Given the description of an element on the screen output the (x, y) to click on. 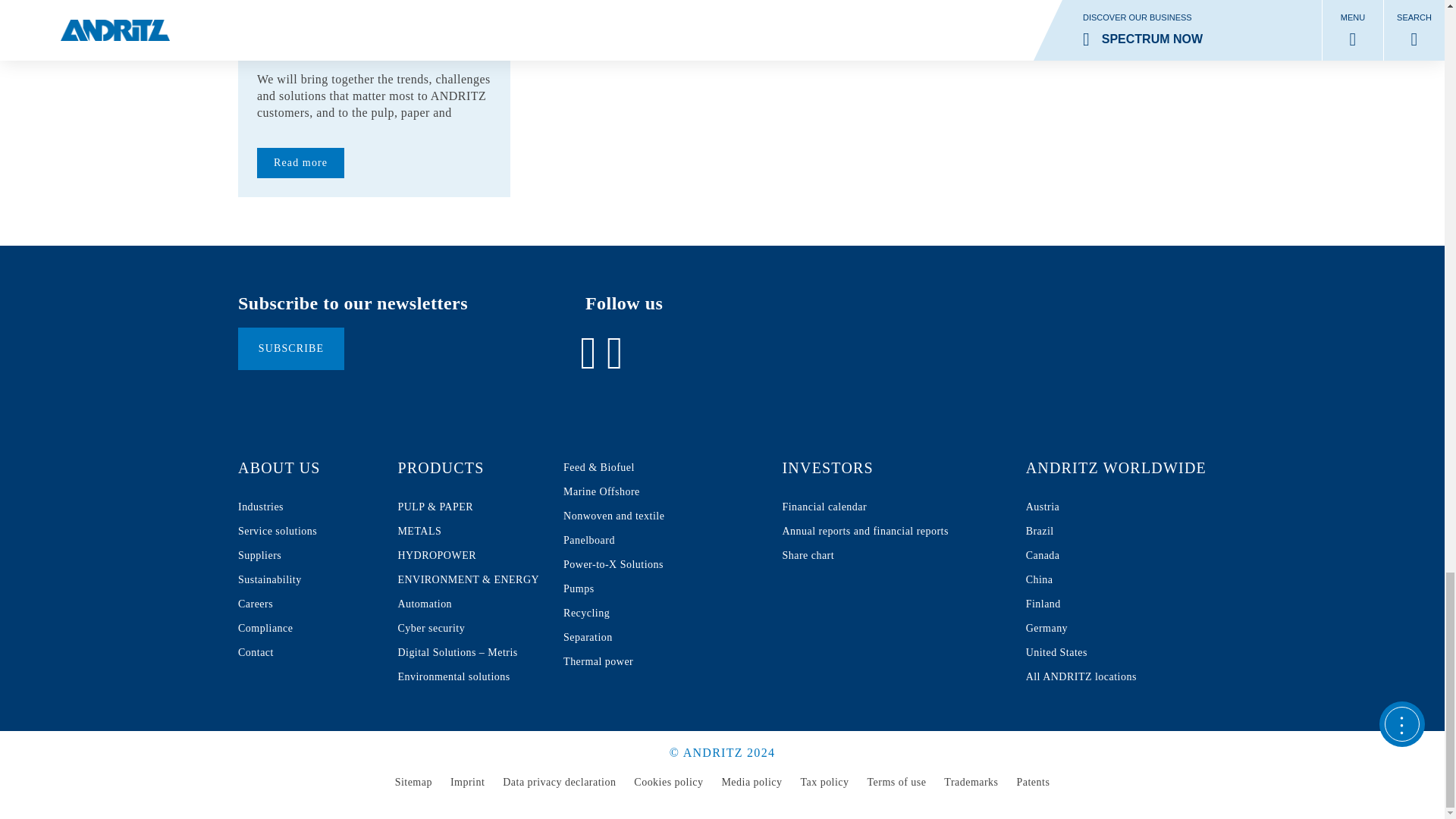
SUBSCRIBE (290, 348)
Read more (290, 348)
